Given the description of an element on the screen output the (x, y) to click on. 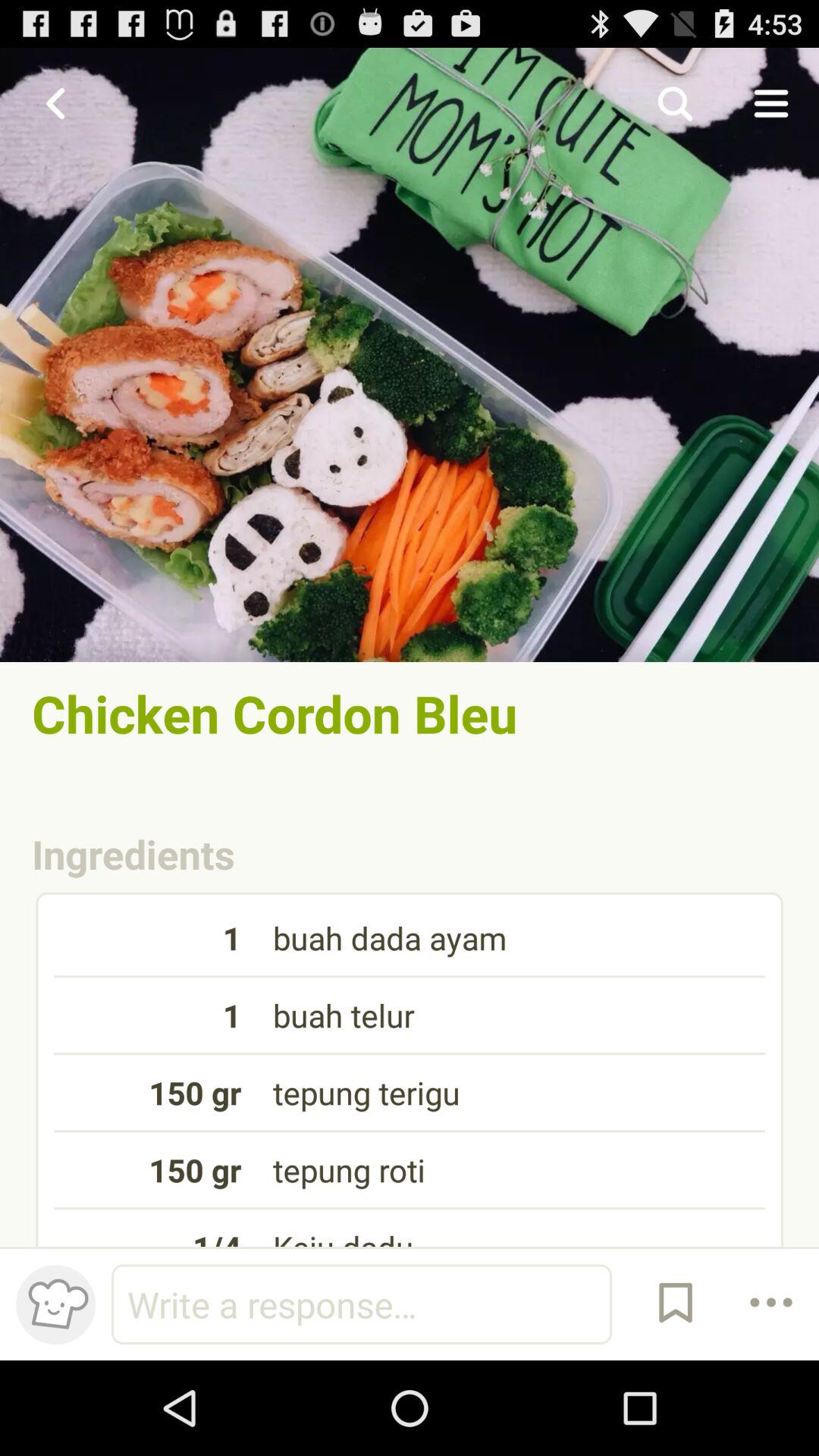
tap icon above ingredients item (409, 712)
